Given the description of an element on the screen output the (x, y) to click on. 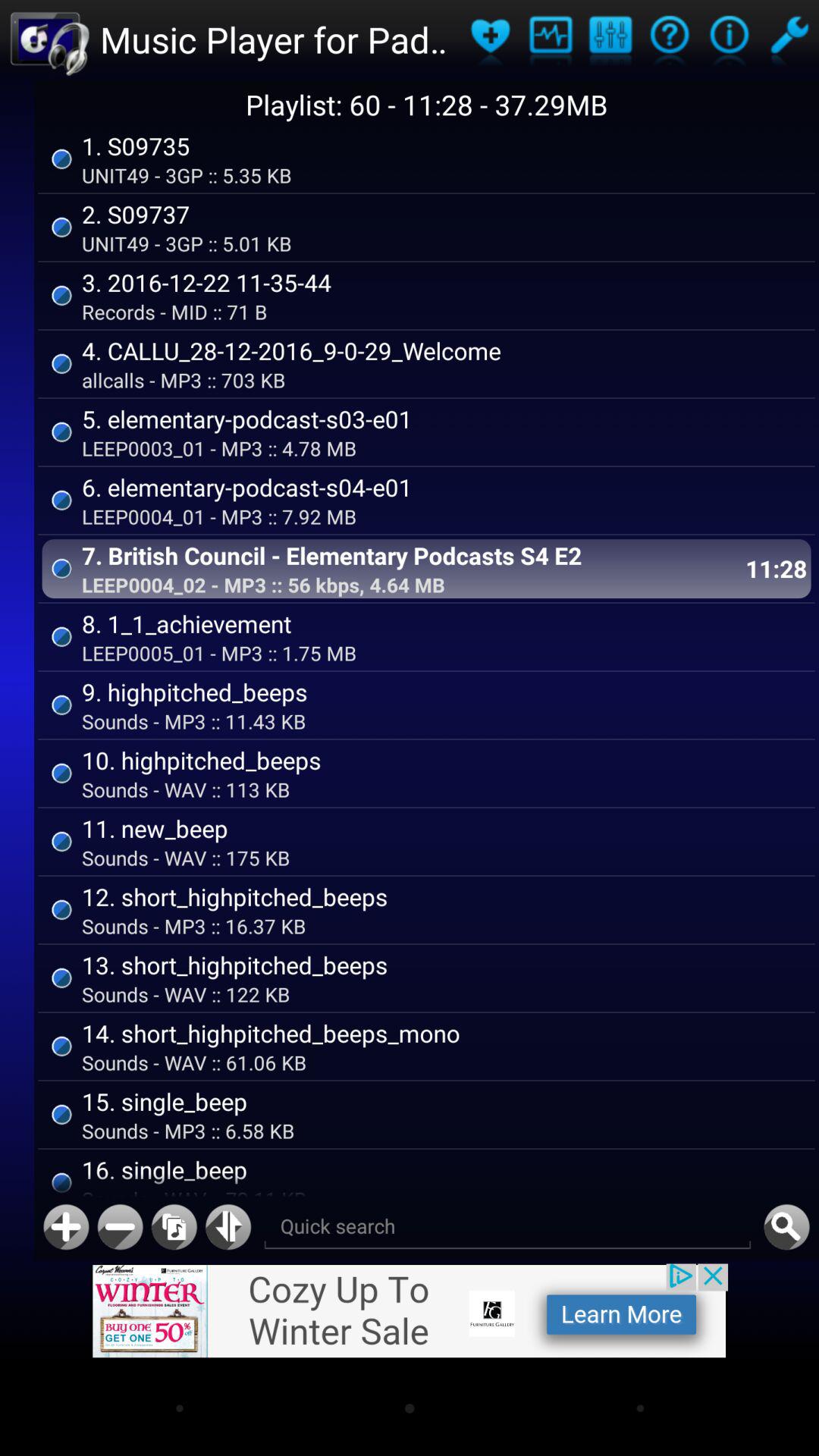
remove song from playlist (120, 1226)
